Given the description of an element on the screen output the (x, y) to click on. 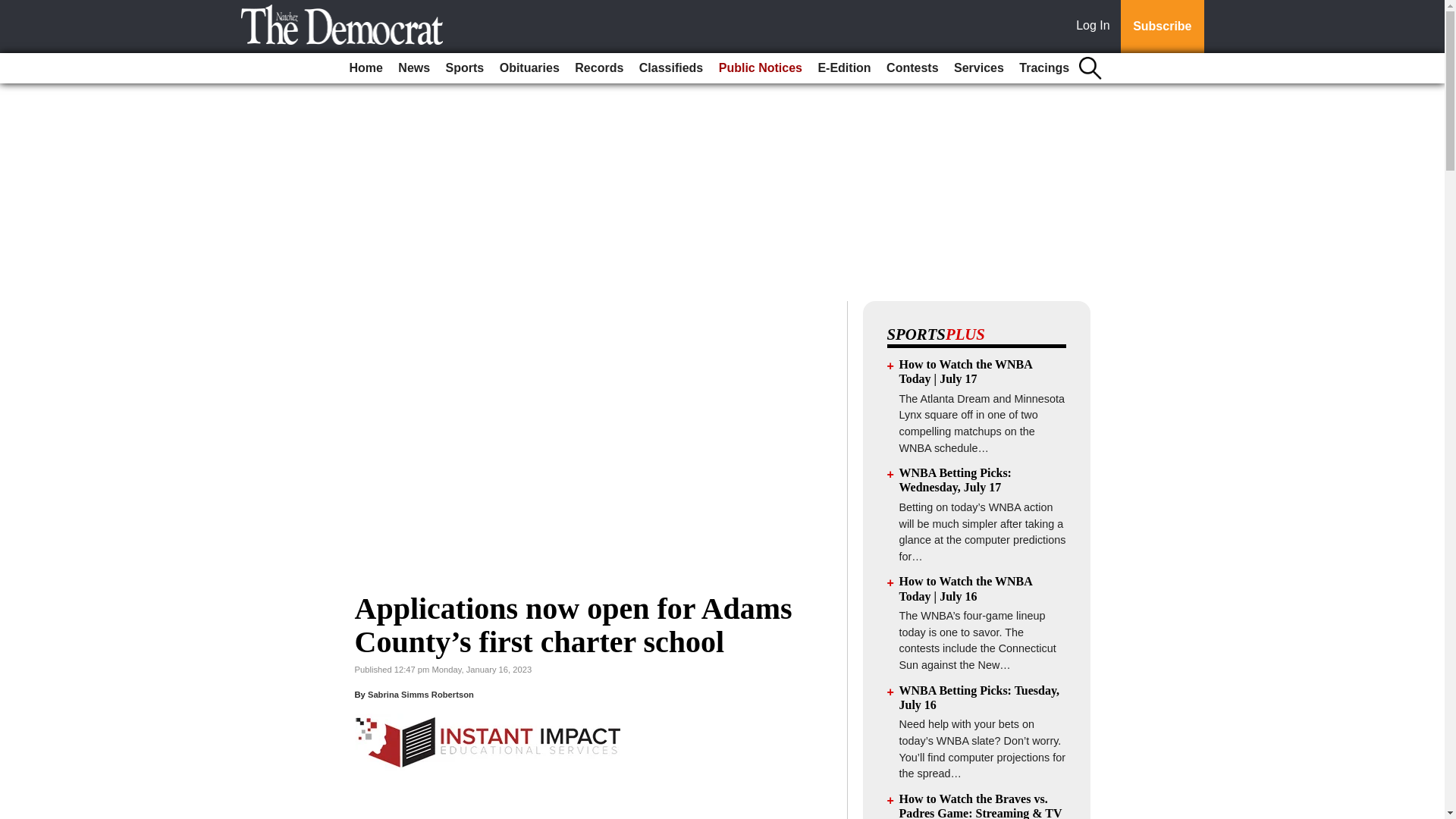
Sabrina Simms Robertson (421, 694)
Classifieds (671, 68)
E-Edition (843, 68)
Contests (911, 68)
Services (978, 68)
Sports (464, 68)
Tracings (1044, 68)
Trinity Audio Player (592, 811)
Subscribe (1162, 26)
News (413, 68)
Obituaries (529, 68)
Home (365, 68)
Log In (1095, 26)
Go (13, 9)
Records (598, 68)
